Given the description of an element on the screen output the (x, y) to click on. 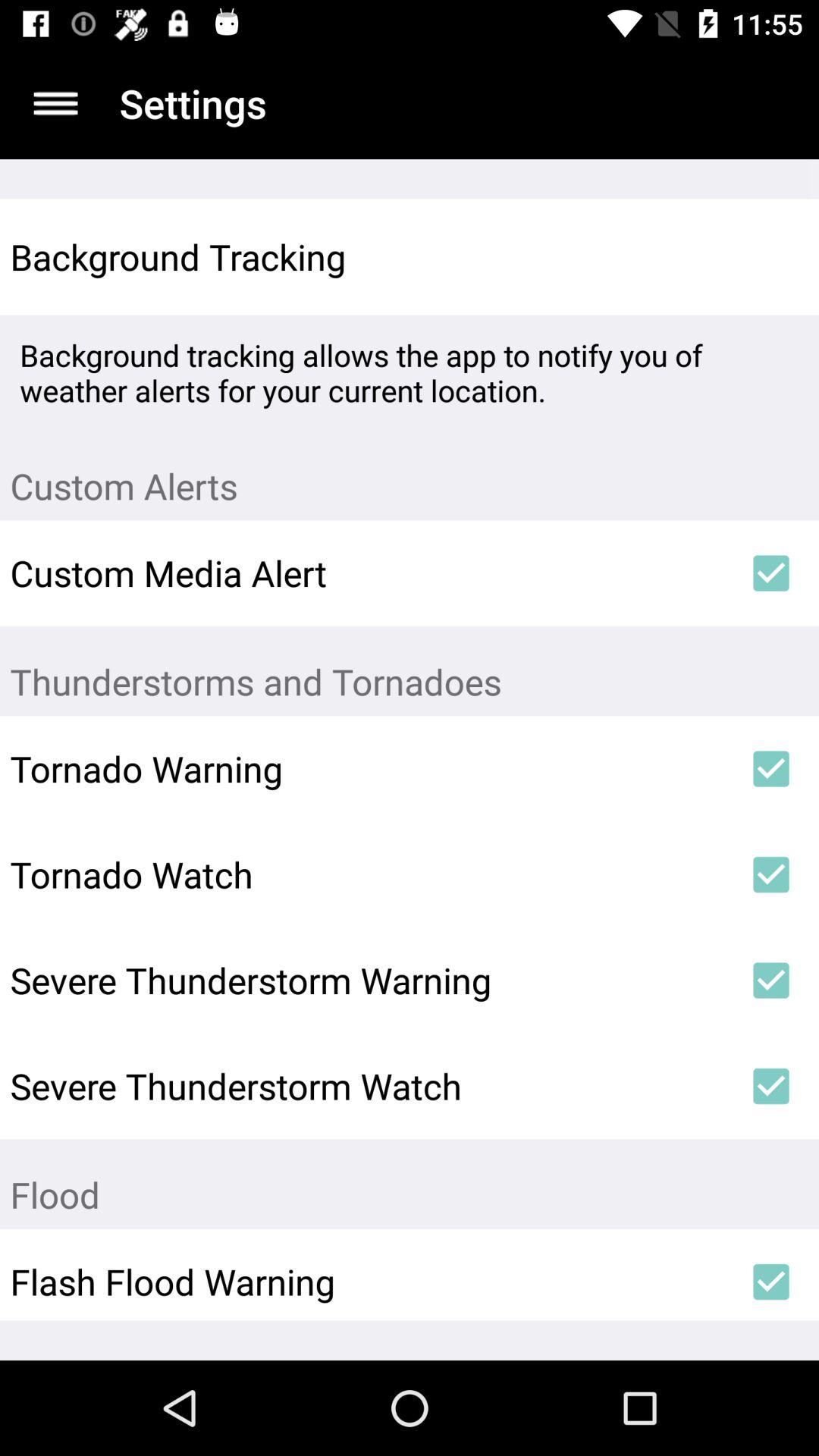
choose the item above background tracking item (55, 103)
